Given the description of an element on the screen output the (x, y) to click on. 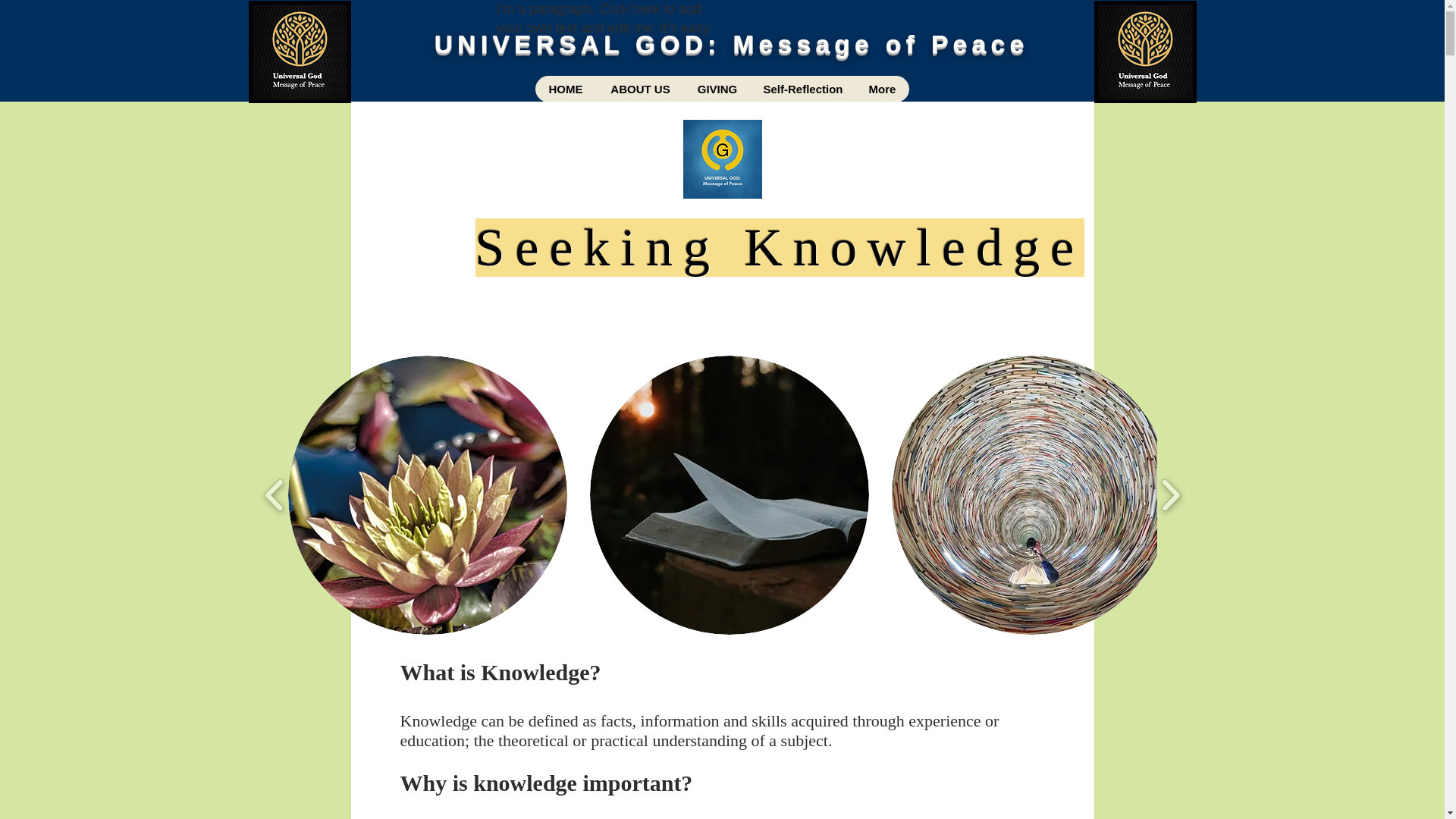
HOME (565, 89)
Self-Reflection (803, 89)
UGC logo.png (299, 51)
UGC logo.png (1144, 51)
ABOUT US (638, 89)
GIVING (717, 89)
